Given the description of an element on the screen output the (x, y) to click on. 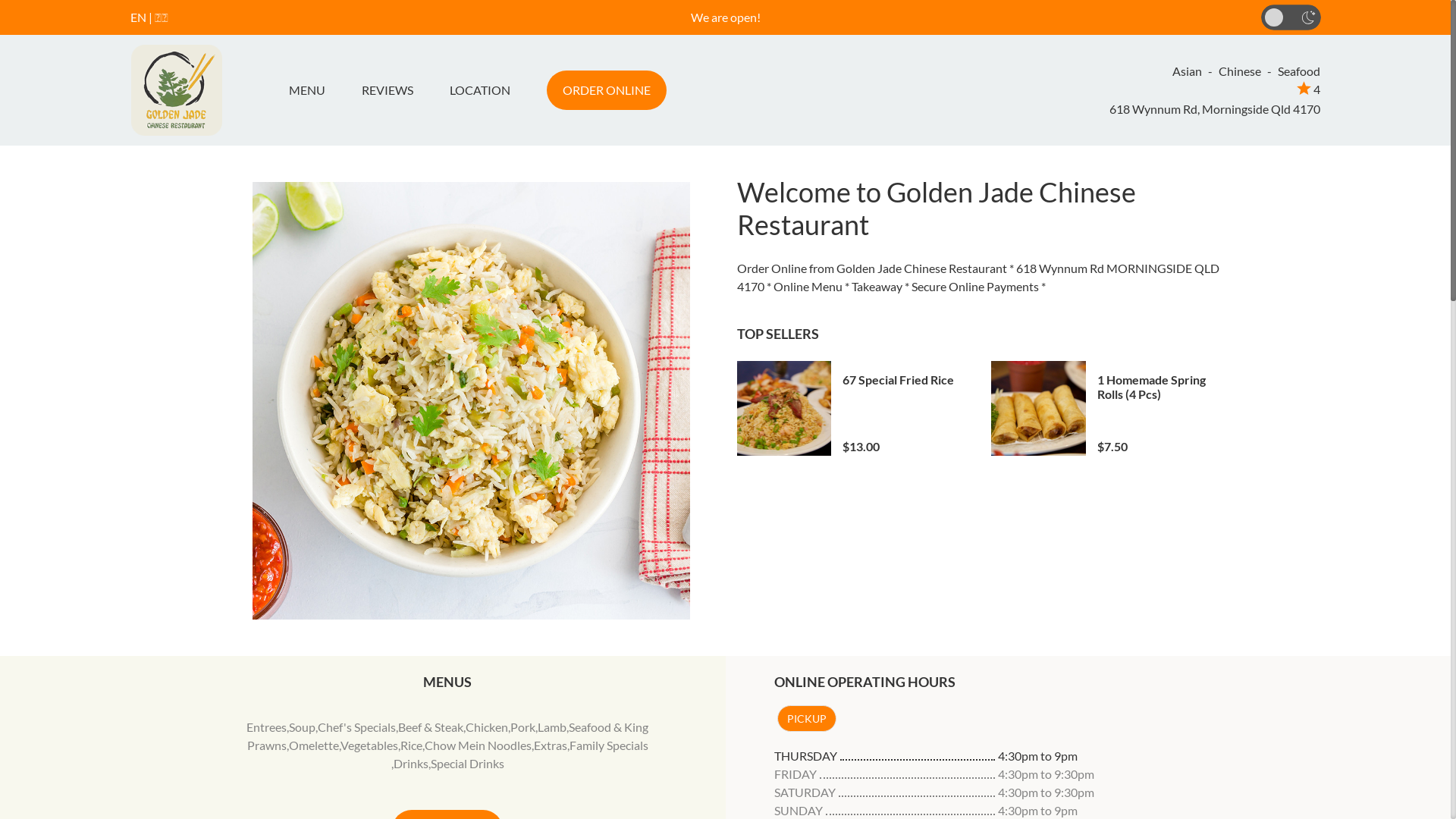
4 Element type: text (1308, 88)
Chow Mein Noodles Element type: text (477, 744)
LOCATION Element type: text (478, 90)
ORDER ONLINE Element type: text (605, 89)
Beef & Steak Element type: text (430, 726)
Entrees Element type: text (266, 726)
Pork Element type: text (522, 726)
Seafood & King Prawns Element type: text (448, 735)
Extras Element type: text (550, 744)
Soup Element type: text (301, 726)
67 Special Fried Rice
$13.00 Element type: text (853, 407)
PICKUP Element type: text (805, 718)
Rice Element type: text (411, 744)
MENU Element type: text (312, 90)
Vegetables Element type: text (369, 744)
Lamb Element type: text (551, 726)
EN Element type: text (138, 16)
Omelette Element type: text (313, 744)
Chef's Specials Element type: text (356, 726)
Family Specials Element type: text (608, 744)
Chicken Element type: text (486, 726)
REVIEWS Element type: text (386, 90)
Drinks Element type: text (410, 763)
Special Drinks Element type: text (467, 763)
1 Homemade Spring Rolls (4 Pcs)
$7.50 Element type: text (1107, 407)
